Given the description of an element on the screen output the (x, y) to click on. 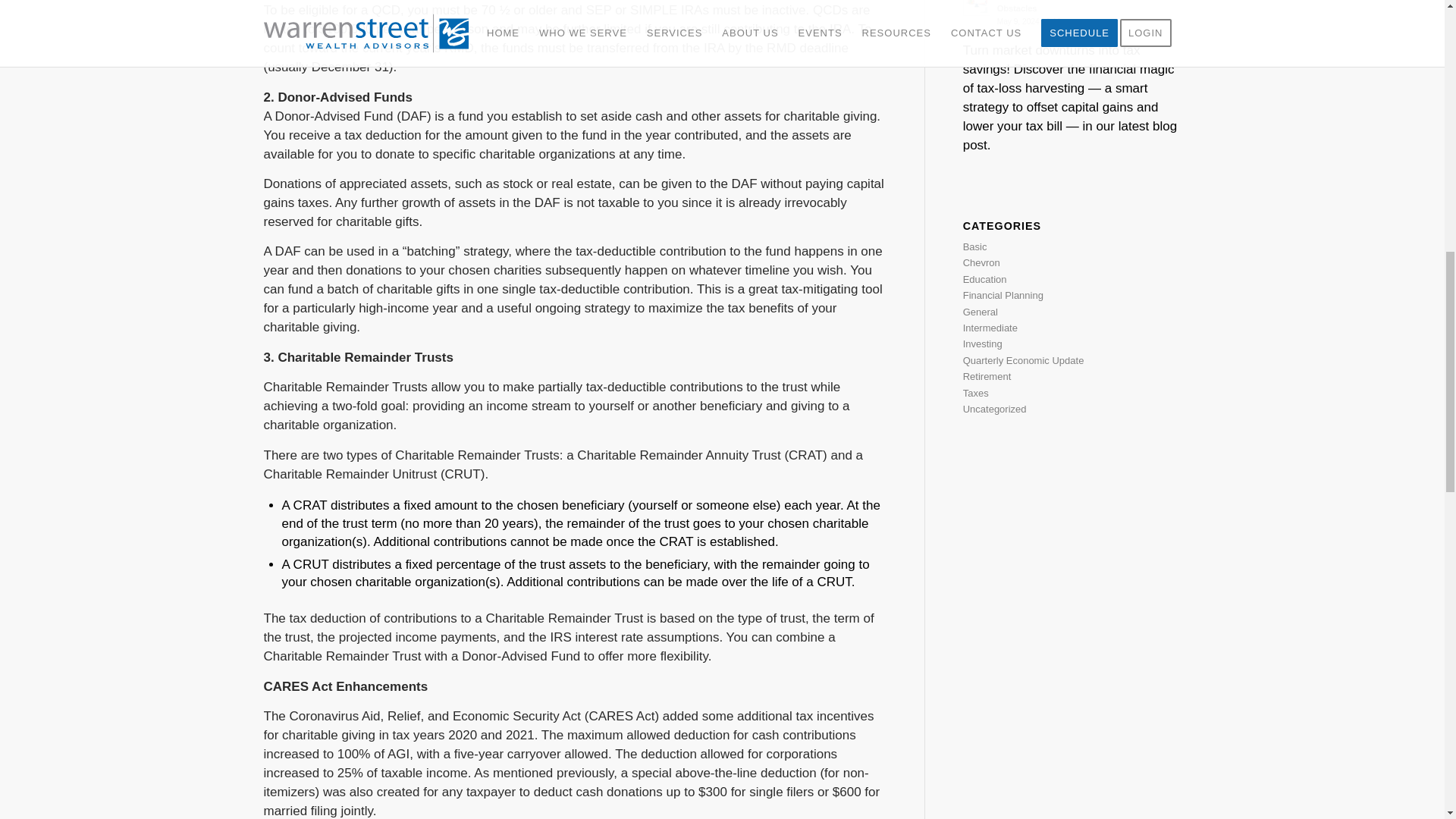
Financial Planning (1002, 295)
General (979, 311)
Tax-Loss Harvesting: Opportunities and Obstacles (1071, 14)
Basic (974, 246)
Investing (982, 343)
Chevron (981, 262)
Intermediate (989, 327)
Education (984, 279)
